Given the description of an element on the screen output the (x, y) to click on. 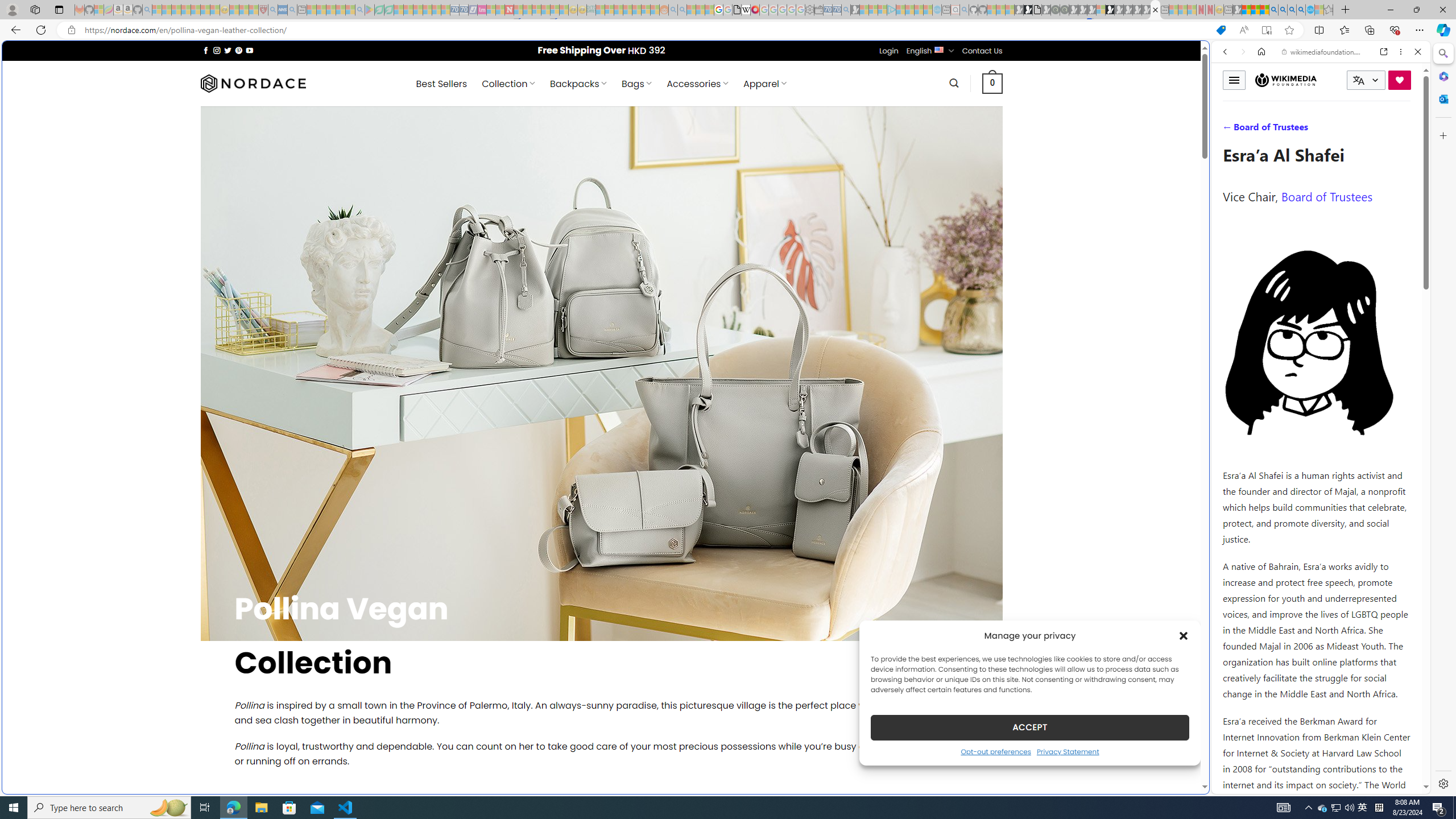
Bluey: Let's Play! - Apps on Google Play - Sleeping (369, 9)
Expert Portfolios - Sleeping (627, 9)
Search Filter, Search Tools (1350, 129)
Login (888, 50)
Follow on Instagram (216, 49)
